Given the description of an element on the screen output the (x, y) to click on. 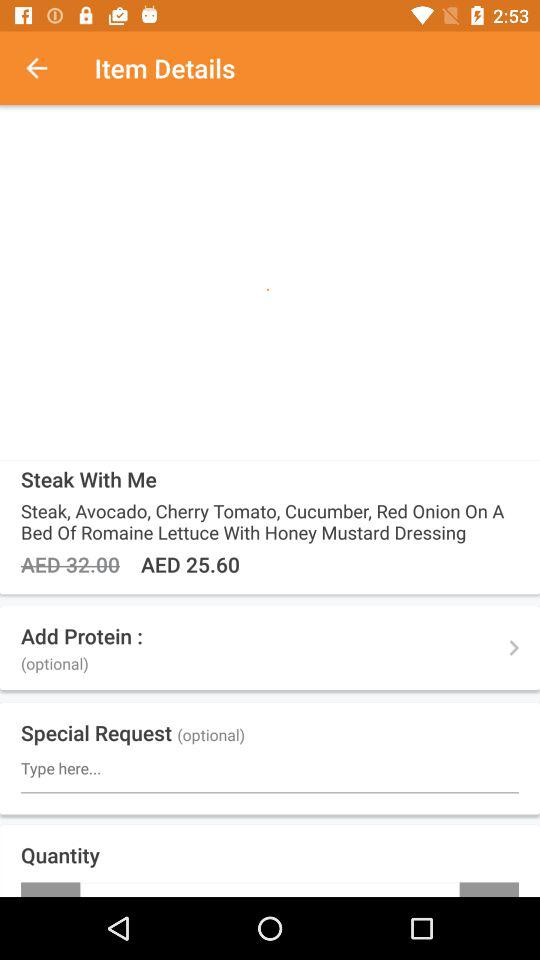
swipe to + item (489, 889)
